Given the description of an element on the screen output the (x, y) to click on. 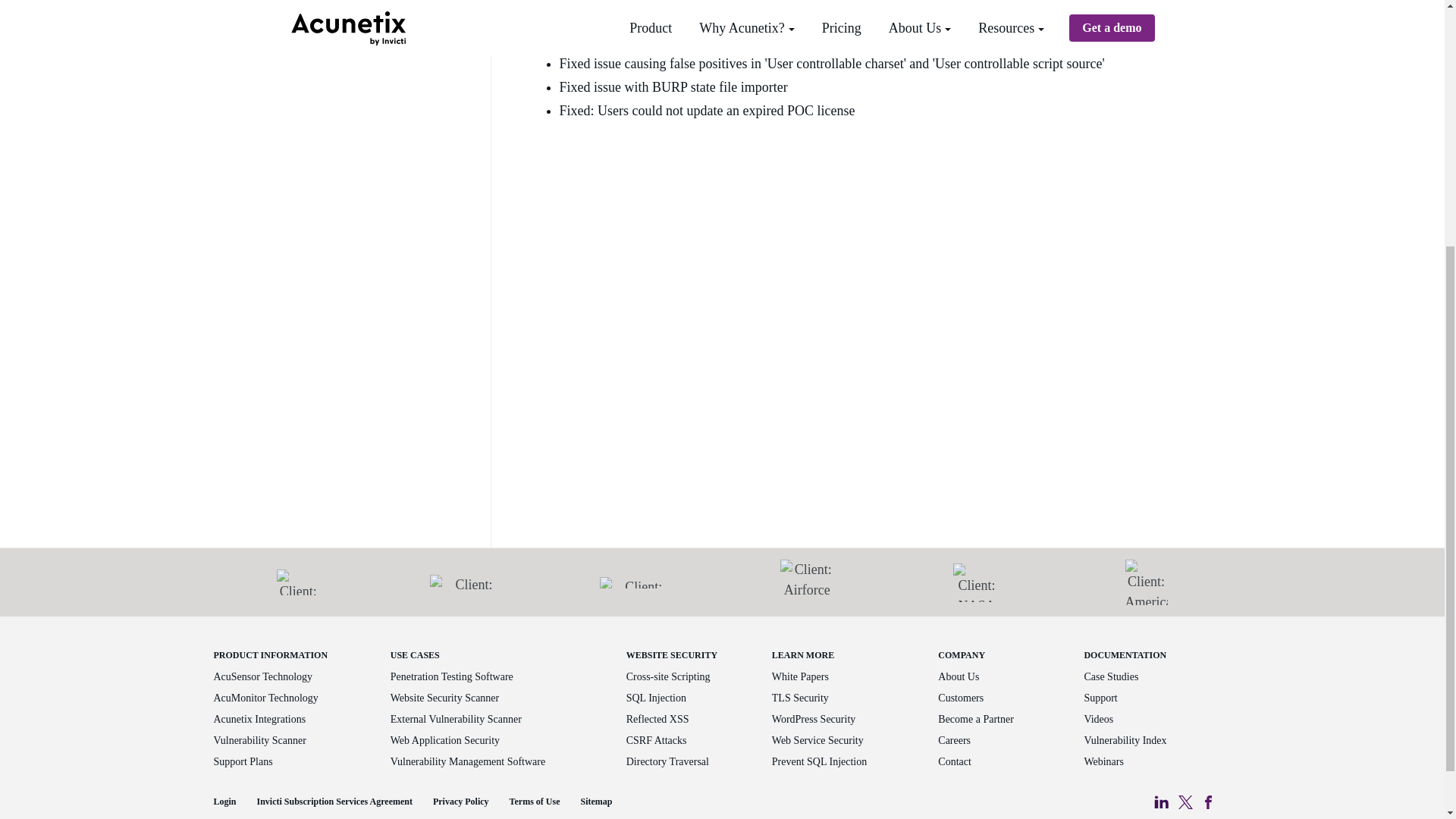
Cross-site Scripting (668, 676)
Vulnerability Management Software (467, 761)
Client: Cognizant (467, 581)
Website Security Scanner (444, 697)
AcuMonitor Technology (266, 697)
Client: NASA (976, 582)
Support Plans (243, 761)
AcuSensor Technology (263, 676)
Client: Airforce (807, 582)
Web Application Security (444, 740)
